Given the description of an element on the screen output the (x, y) to click on. 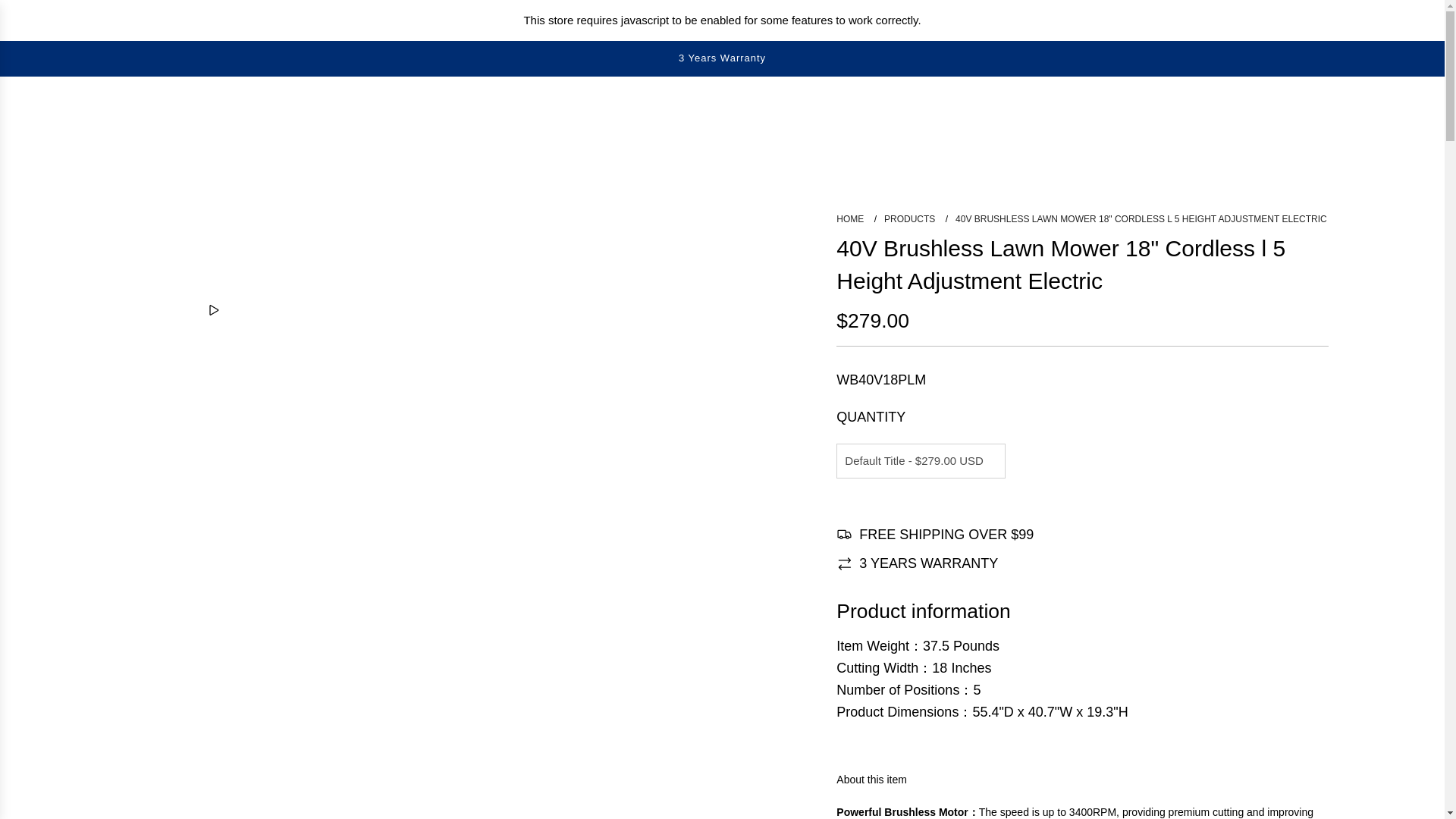
Back to the frontpage (850, 218)
PRODUCTS (910, 218)
